Given the description of an element on the screen output the (x, y) to click on. 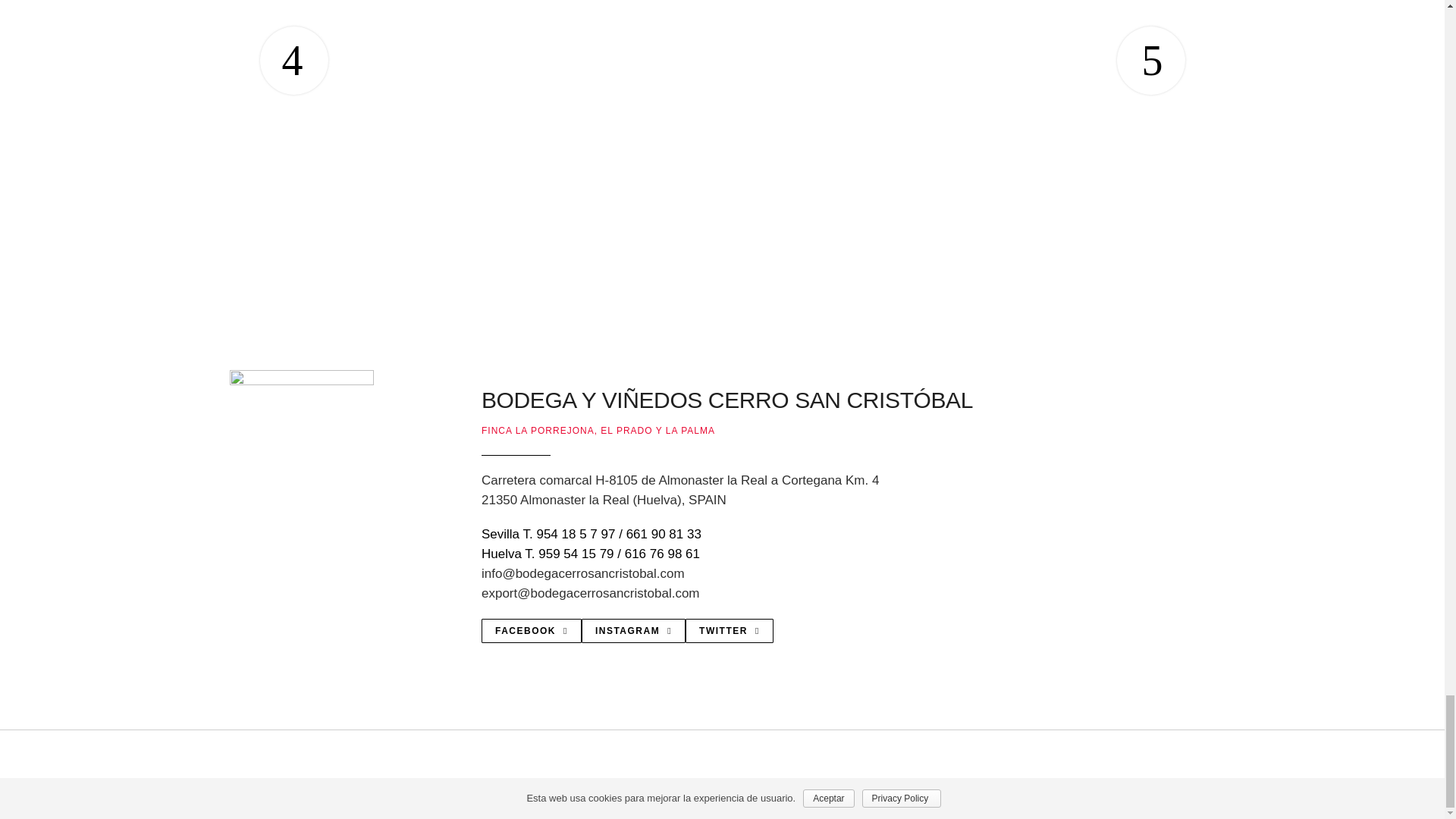
FACEBOOK (530, 630)
INSTAGRAM (632, 630)
TWITTER (729, 630)
